Given the description of an element on the screen output the (x, y) to click on. 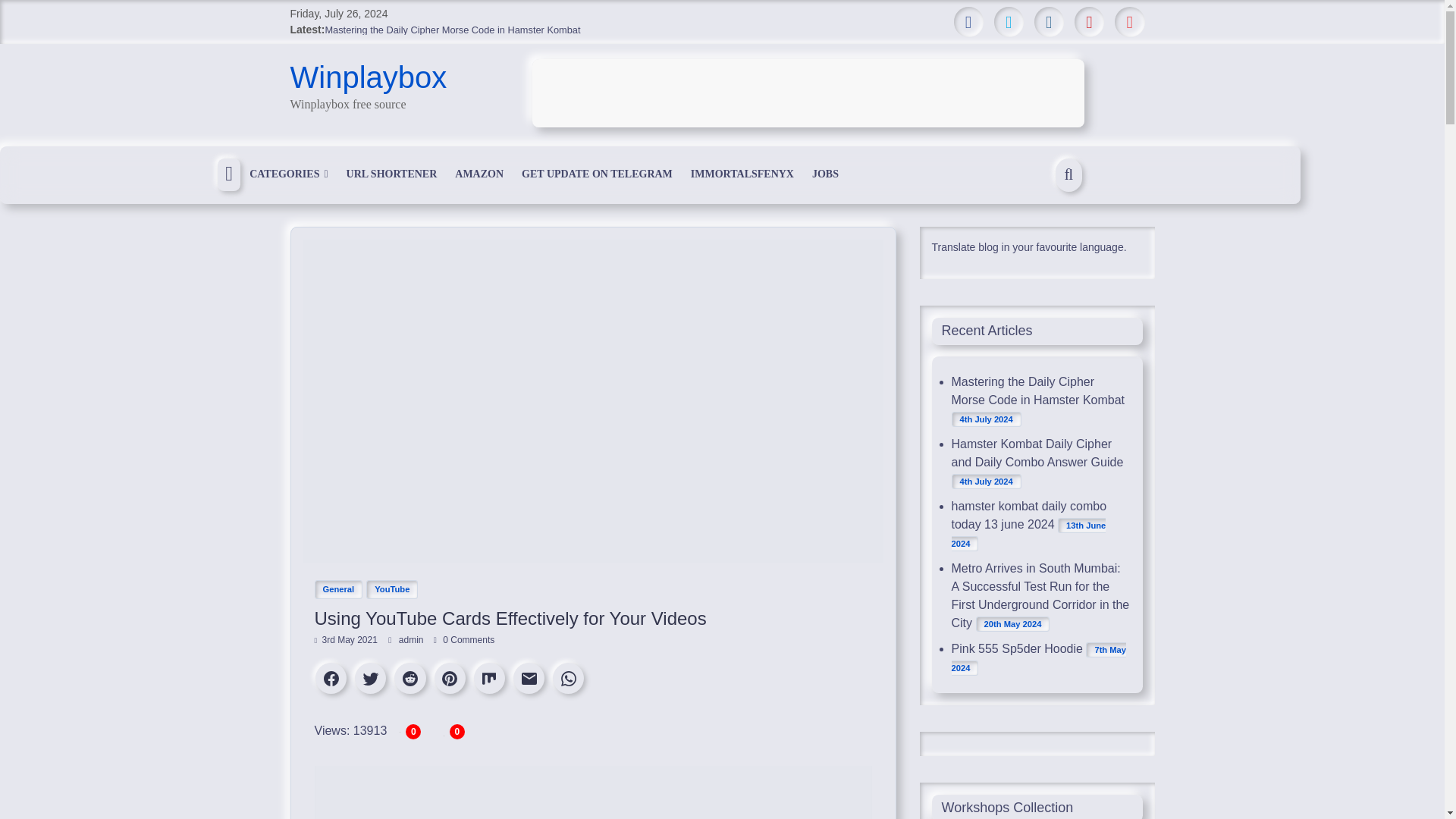
GET UPDATE ON TELEGRAM (596, 174)
0 Comments (464, 639)
admin (412, 639)
Mastering the Daily Cipher Morse Code in Hamster Kombat (451, 30)
CATEGORIES (288, 174)
3rd May 2021 (345, 639)
URL SHORTENER (391, 174)
JOBS (825, 174)
IMMORTALSFENYX (742, 174)
AMAZON (478, 174)
Winplaybox (367, 77)
Mastering the Daily Cipher Morse Code in Hamster Kombat (451, 30)
YouTube (391, 588)
admin (412, 639)
2:24 pm (345, 639)
